Given the description of an element on the screen output the (x, y) to click on. 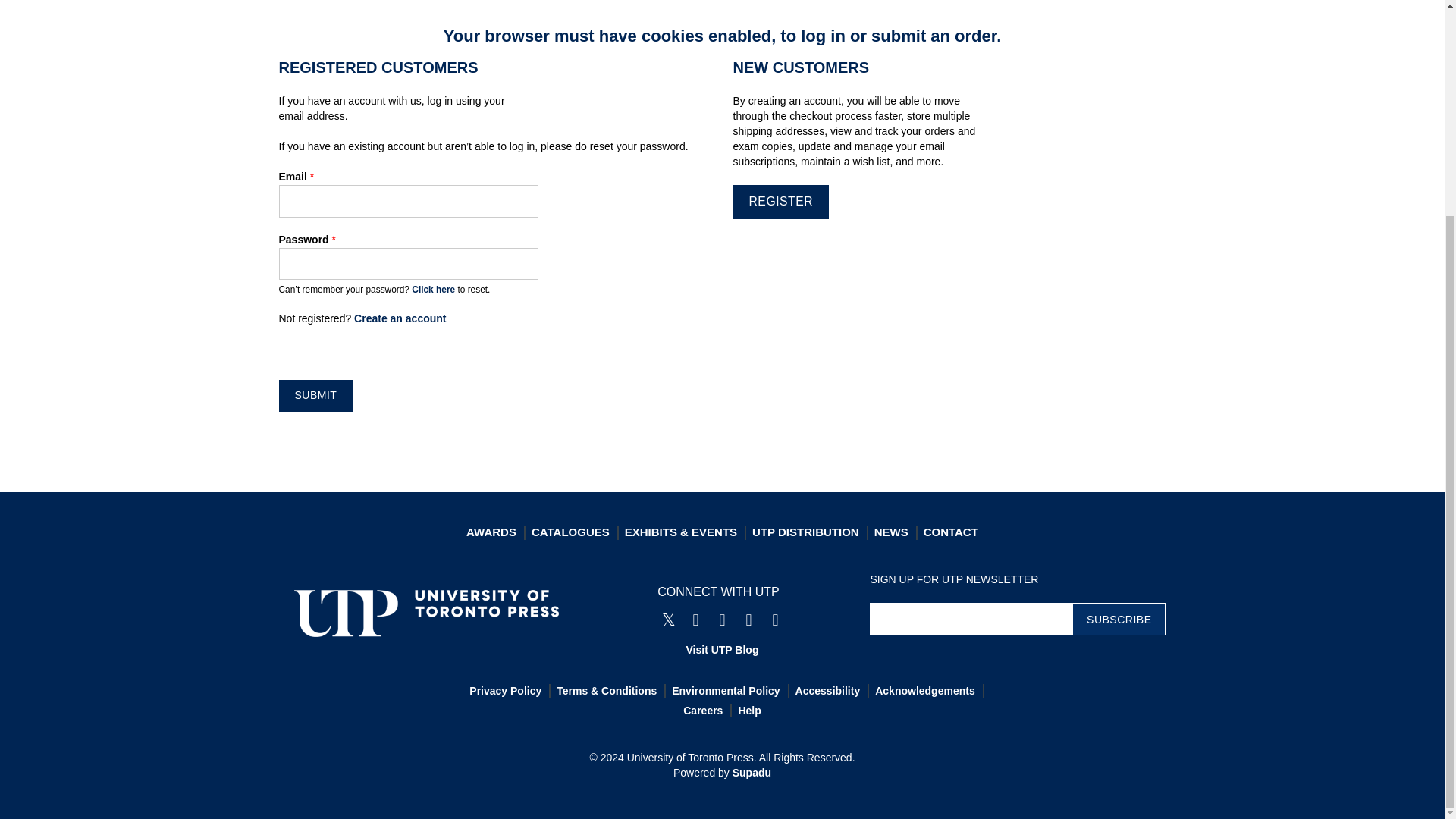
Follow us on Facebook (695, 620)
Create an account (399, 318)
Follow us on LinkedIn (774, 620)
Follow us on YouTube (748, 620)
Create an account (399, 318)
Follow us on Instagram (721, 620)
Subscribe (1118, 618)
Click here (433, 289)
